Given the description of an element on the screen output the (x, y) to click on. 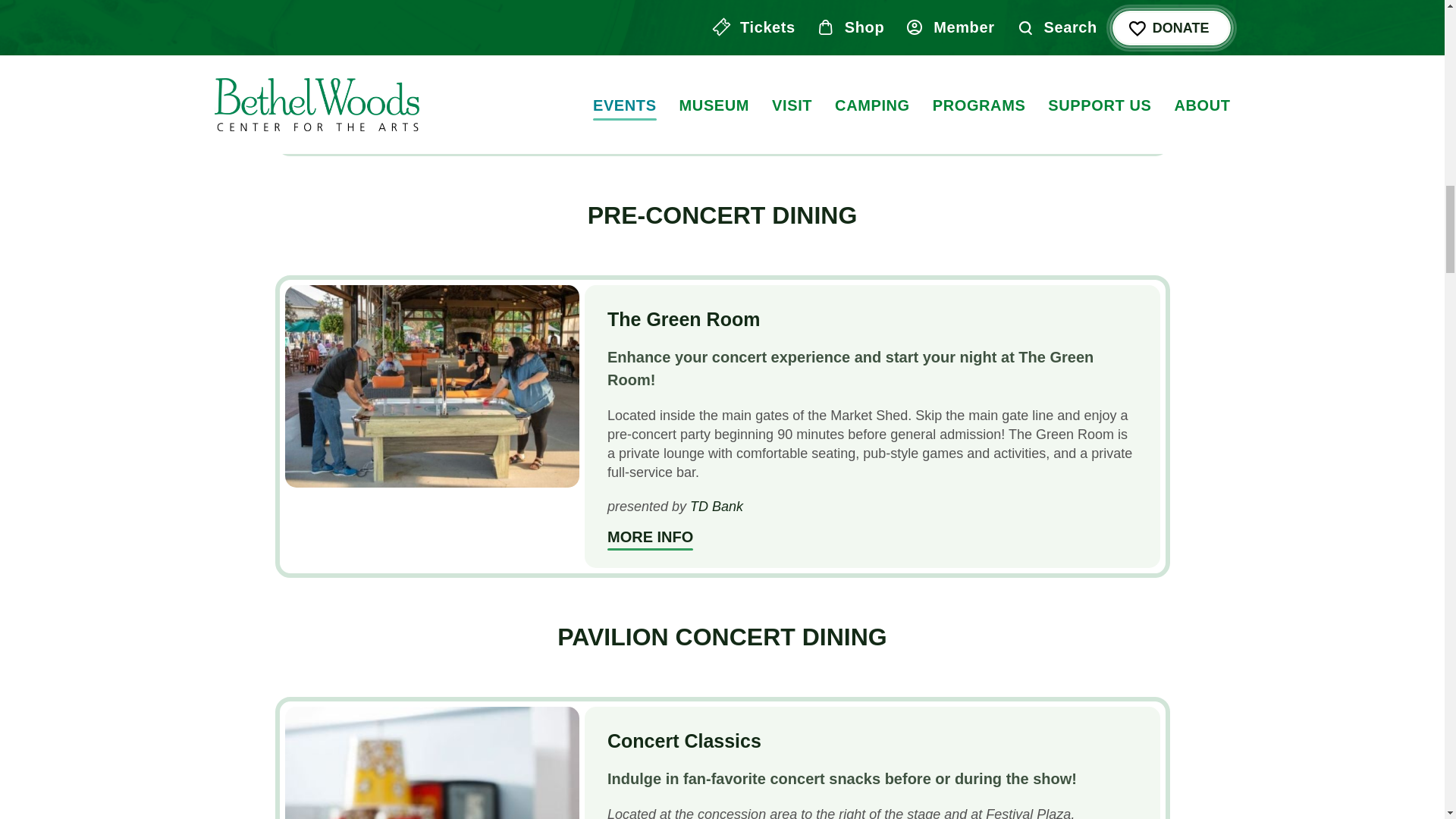
The Green Room (650, 539)
Concert Classics (684, 740)
The Green Room (683, 319)
The Green Room (432, 386)
